Given the description of an element on the screen output the (x, y) to click on. 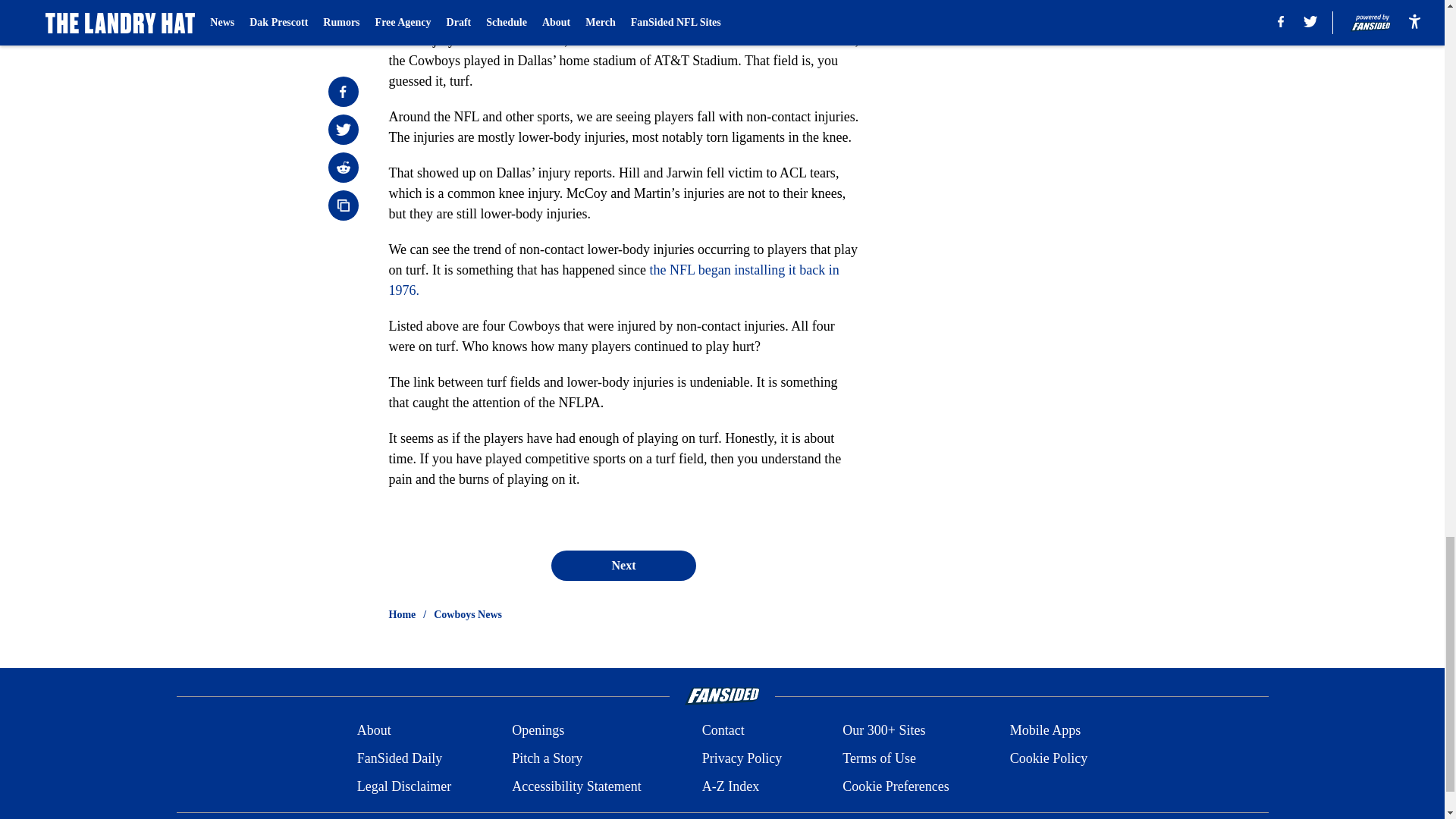
FanSided Daily (399, 758)
Contact (722, 730)
Cowboys News (467, 614)
About (373, 730)
Mobile Apps (1045, 730)
Pitch a Story (547, 758)
Home (401, 614)
the NFL began installing it back in 1976. (613, 280)
Openings (538, 730)
Privacy Policy (742, 758)
